Given the description of an element on the screen output the (x, y) to click on. 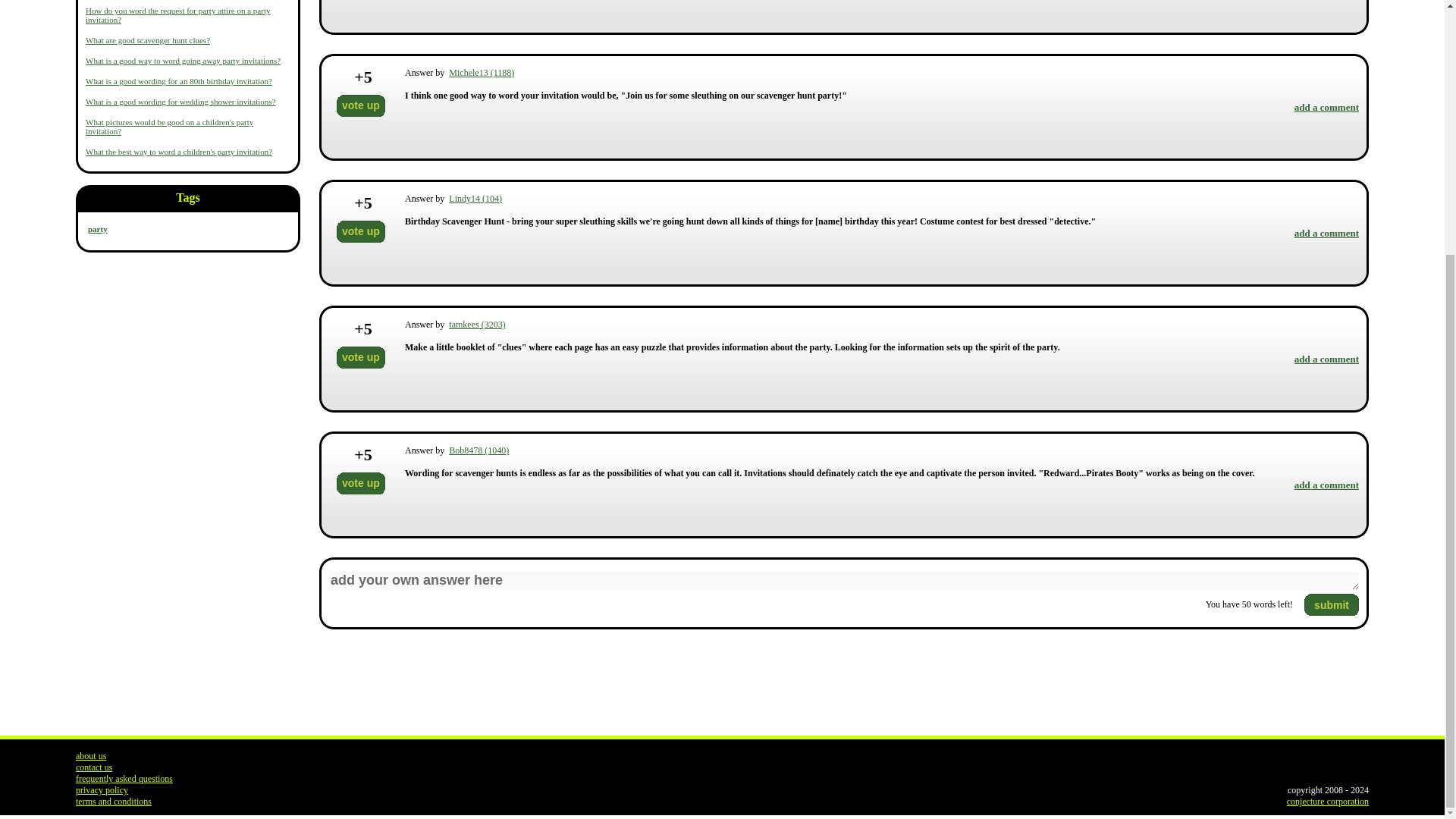
vote up (361, 357)
What the best way to word a children's party invitation? (178, 151)
add a comment (1326, 358)
add a comment (1326, 107)
Tags (187, 200)
What are good scavenger hunt clues? (147, 40)
What is a good way to word going away party invitations? (183, 60)
What is a good wording for an 80th birthday invitation? (178, 80)
vote up (361, 231)
What is a good wording for wedding shower invitations? (180, 101)
party (97, 228)
vote up (361, 106)
vote up (361, 483)
